Given the description of an element on the screen output the (x, y) to click on. 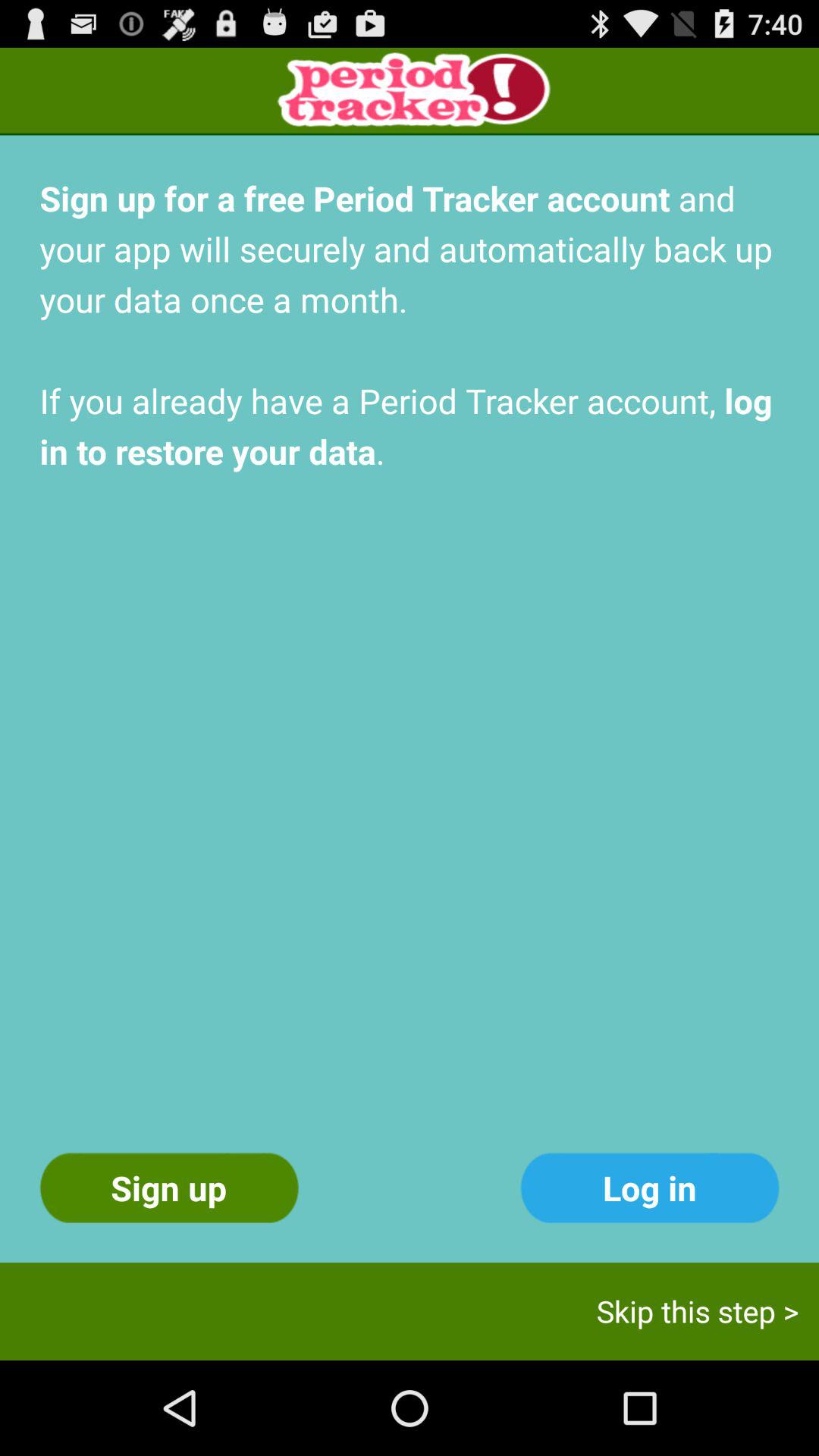
tap the log in item (649, 1187)
